Given the description of an element on the screen output the (x, y) to click on. 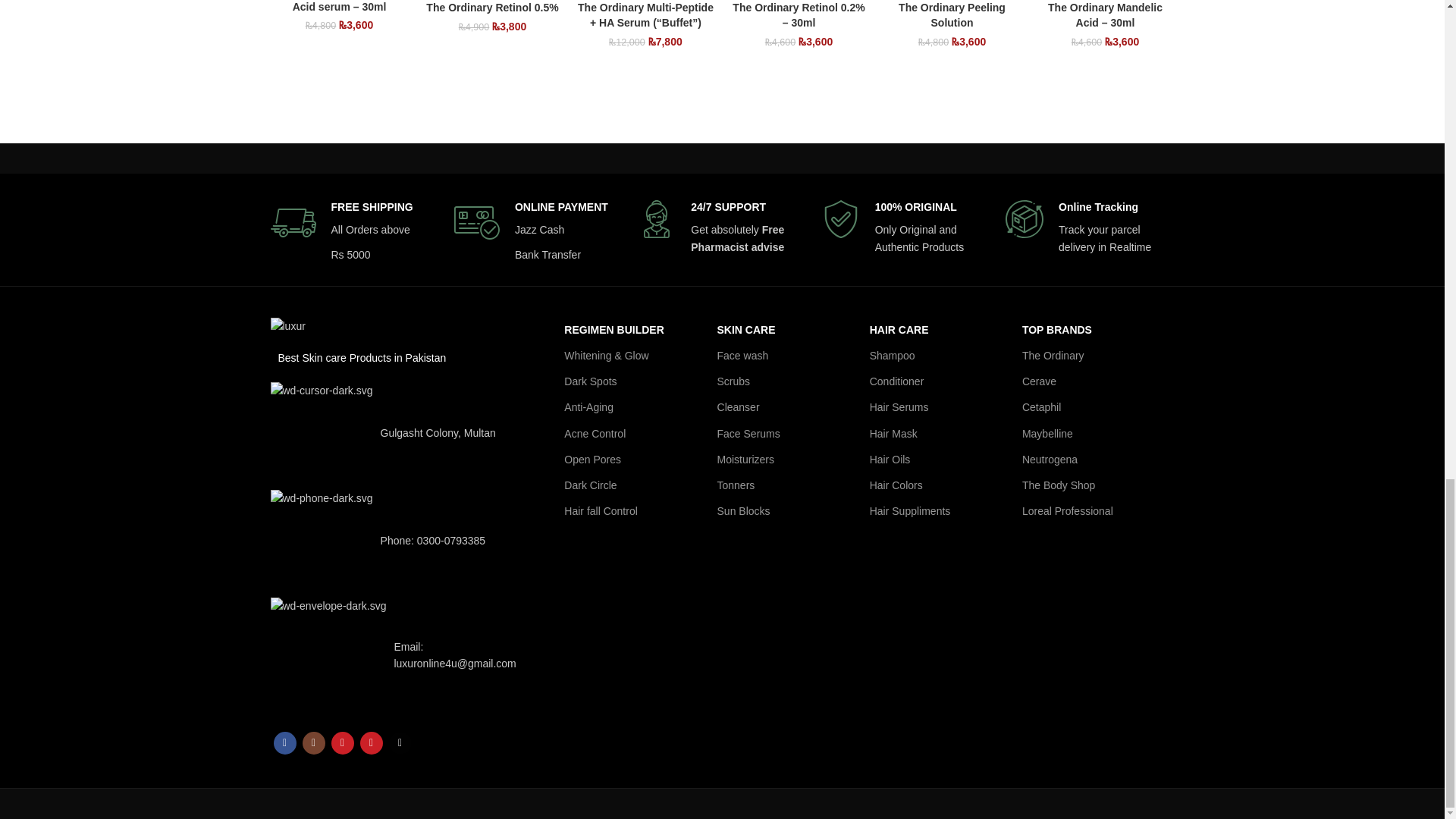
luxur (286, 325)
wd-envelope-dark.svg (327, 655)
wd-phone-dark.svg (320, 540)
wd-cursor-dark.svg (320, 433)
